Given the description of an element on the screen output the (x, y) to click on. 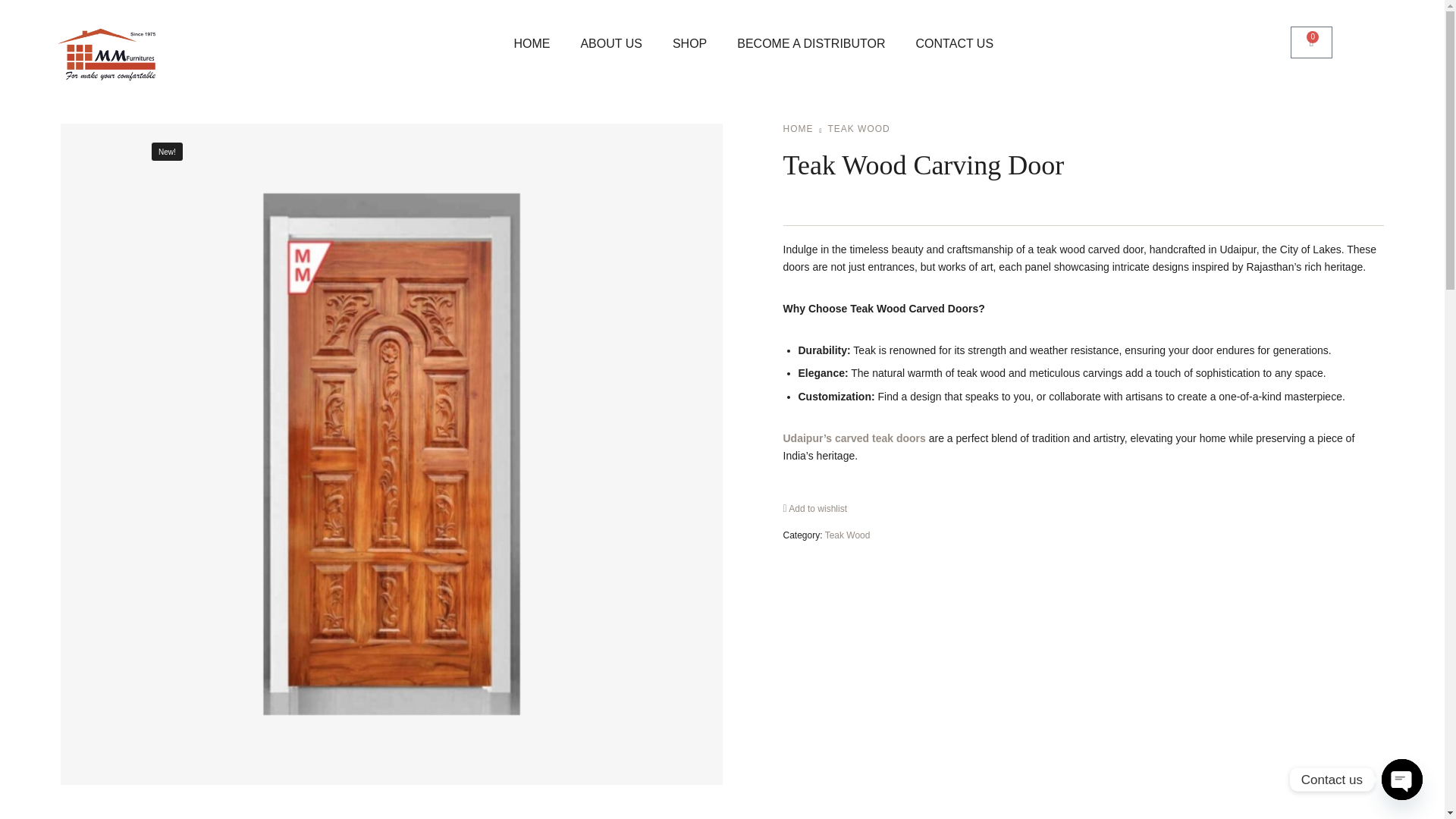
Add to wishlist (815, 508)
ABOUT US (611, 43)
Teak Wood (847, 534)
0 (1311, 42)
CONTACT US (955, 43)
TEAK WOOD (858, 128)
BECOME A DISTRIBUTOR (810, 43)
HOME (530, 43)
SHOP (690, 43)
HOME (797, 128)
